Given the description of an element on the screen output the (x, y) to click on. 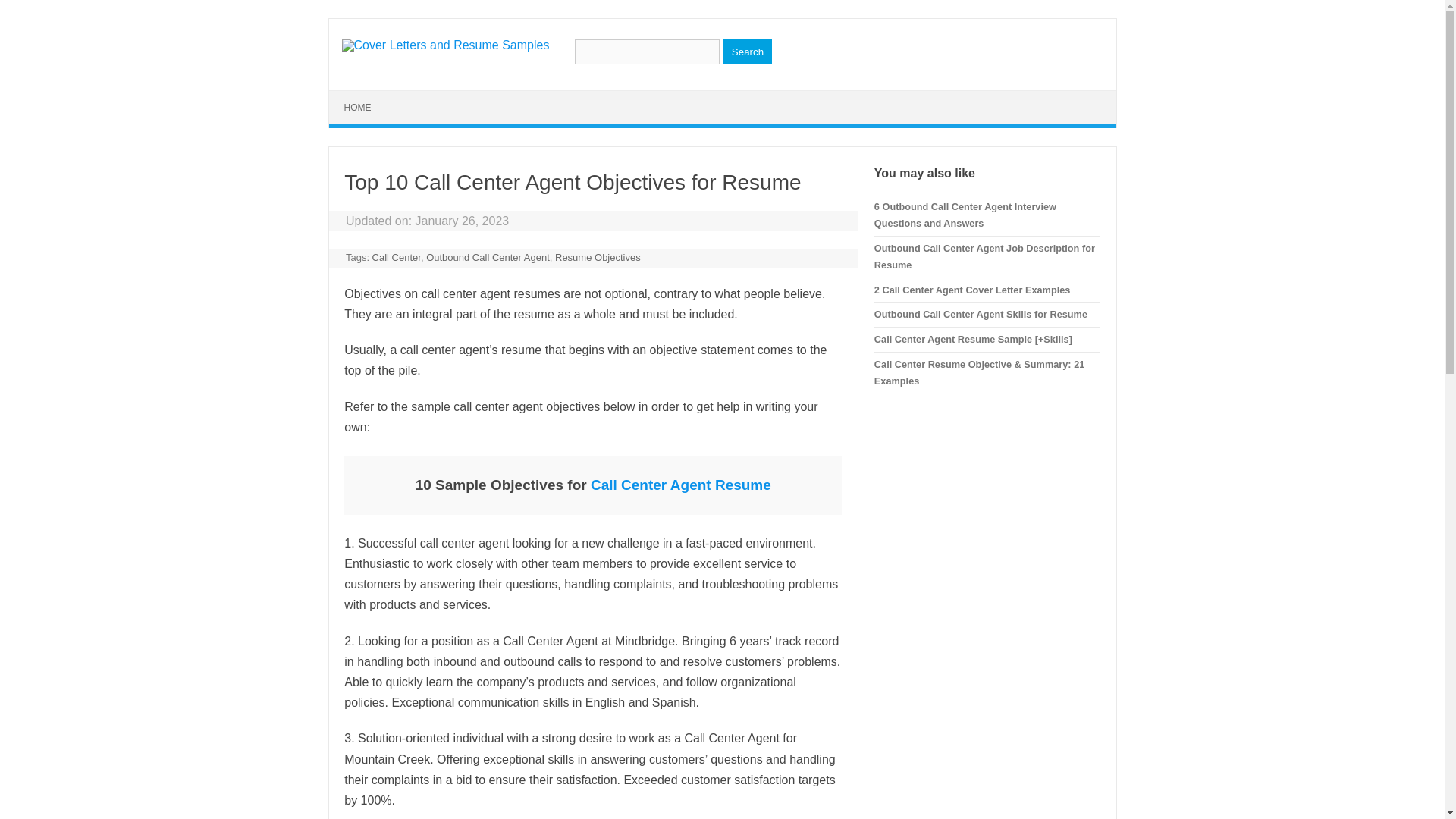
Search (747, 51)
Search (747, 51)
Outbound Call Center Agent Job Description for Resume (984, 256)
Call Center Agent Resume (681, 484)
HOME (358, 107)
Resume Objectives (597, 256)
Outbound Call Center Agent Skills for Resume (981, 314)
Cover Letters and Resume Samples (444, 44)
